Given the description of an element on the screen output the (x, y) to click on. 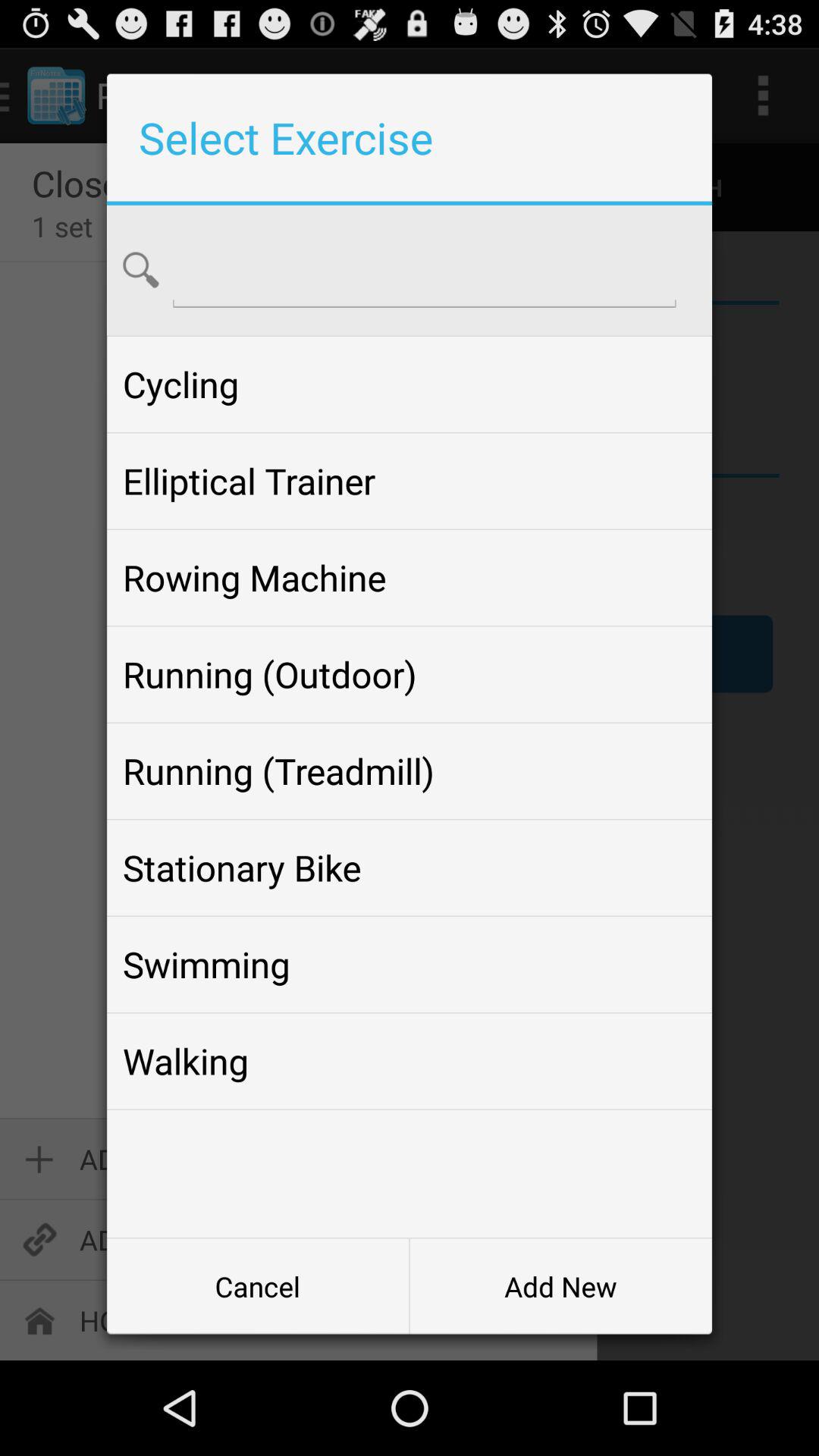
search (424, 268)
